Given the description of an element on the screen output the (x, y) to click on. 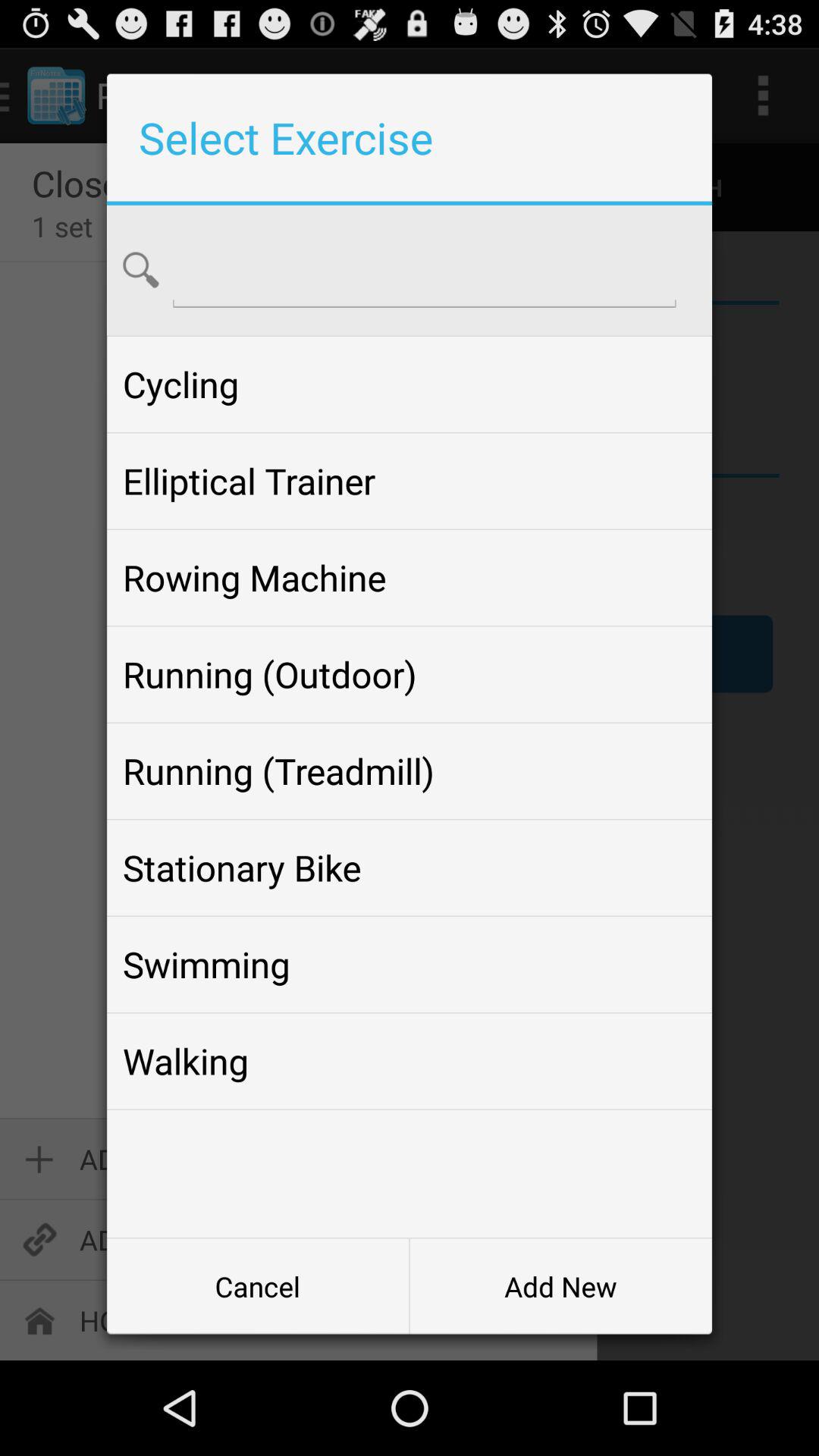
search (424, 268)
